Given the description of an element on the screen output the (x, y) to click on. 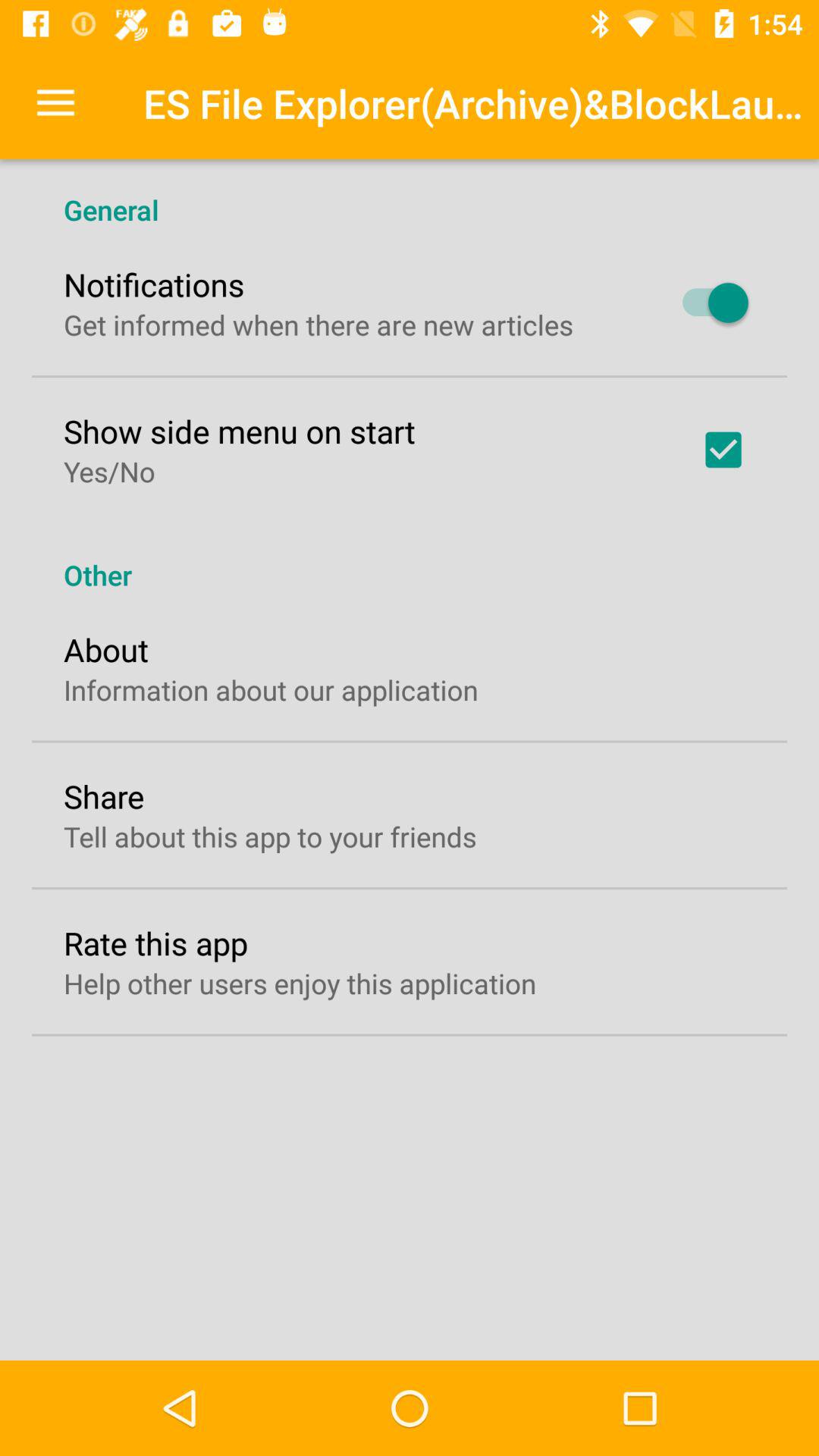
press the icon below the about item (270, 689)
